Given the description of an element on the screen output the (x, y) to click on. 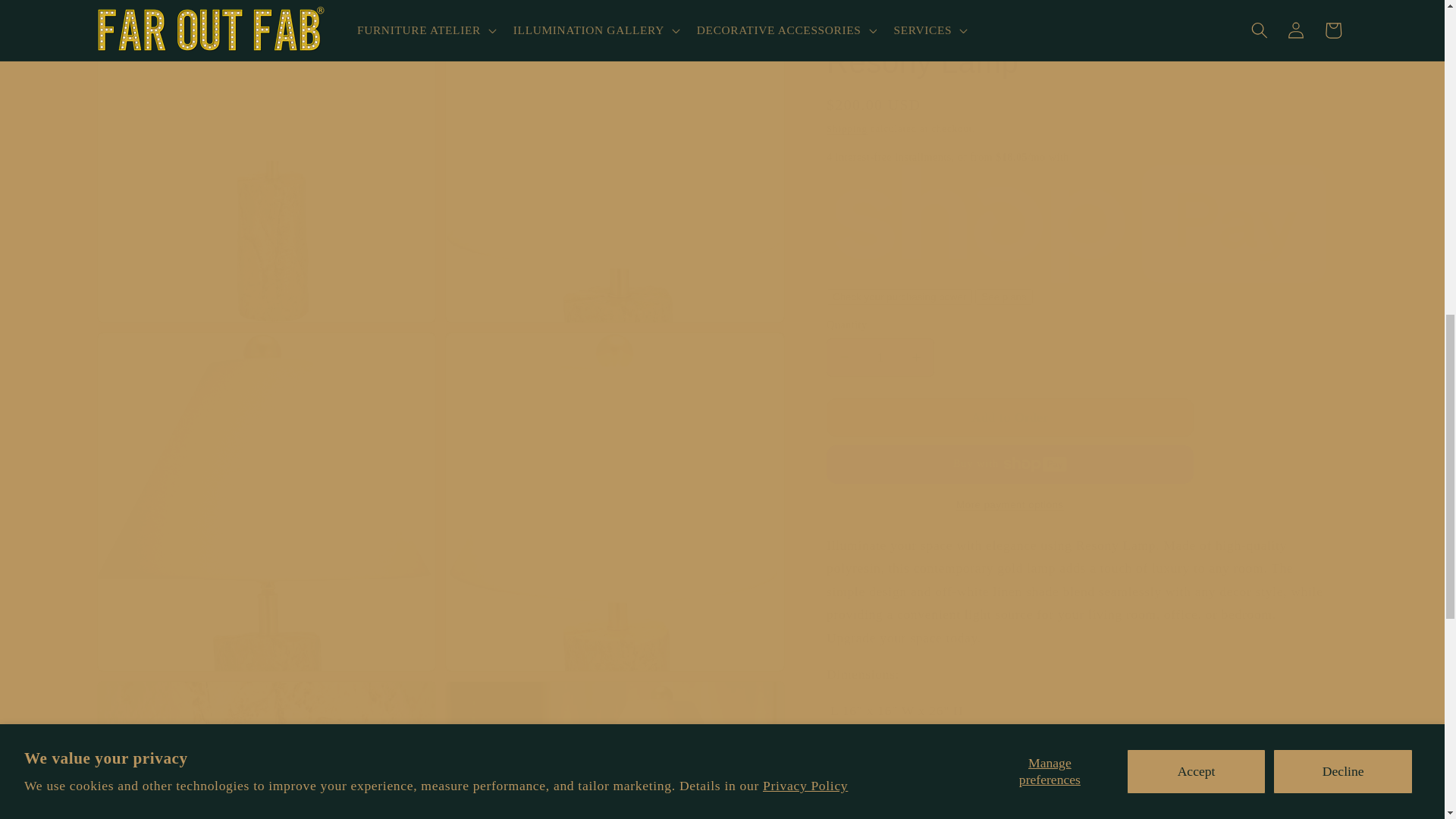
Open media 2 in modal (266, 153)
Open media 3 in modal (614, 153)
Open media 6 in modal (266, 741)
Open media 7 in modal (614, 741)
Open media 4 in modal (266, 485)
Open media 5 in modal (614, 485)
